Given the description of an element on the screen output the (x, y) to click on. 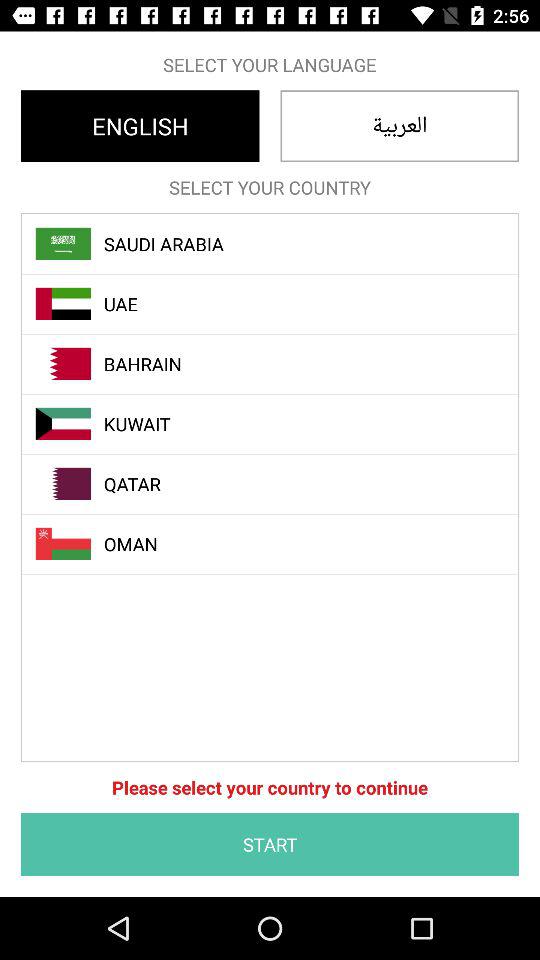
turn on qatar icon (281, 483)
